Given the description of an element on the screen output the (x, y) to click on. 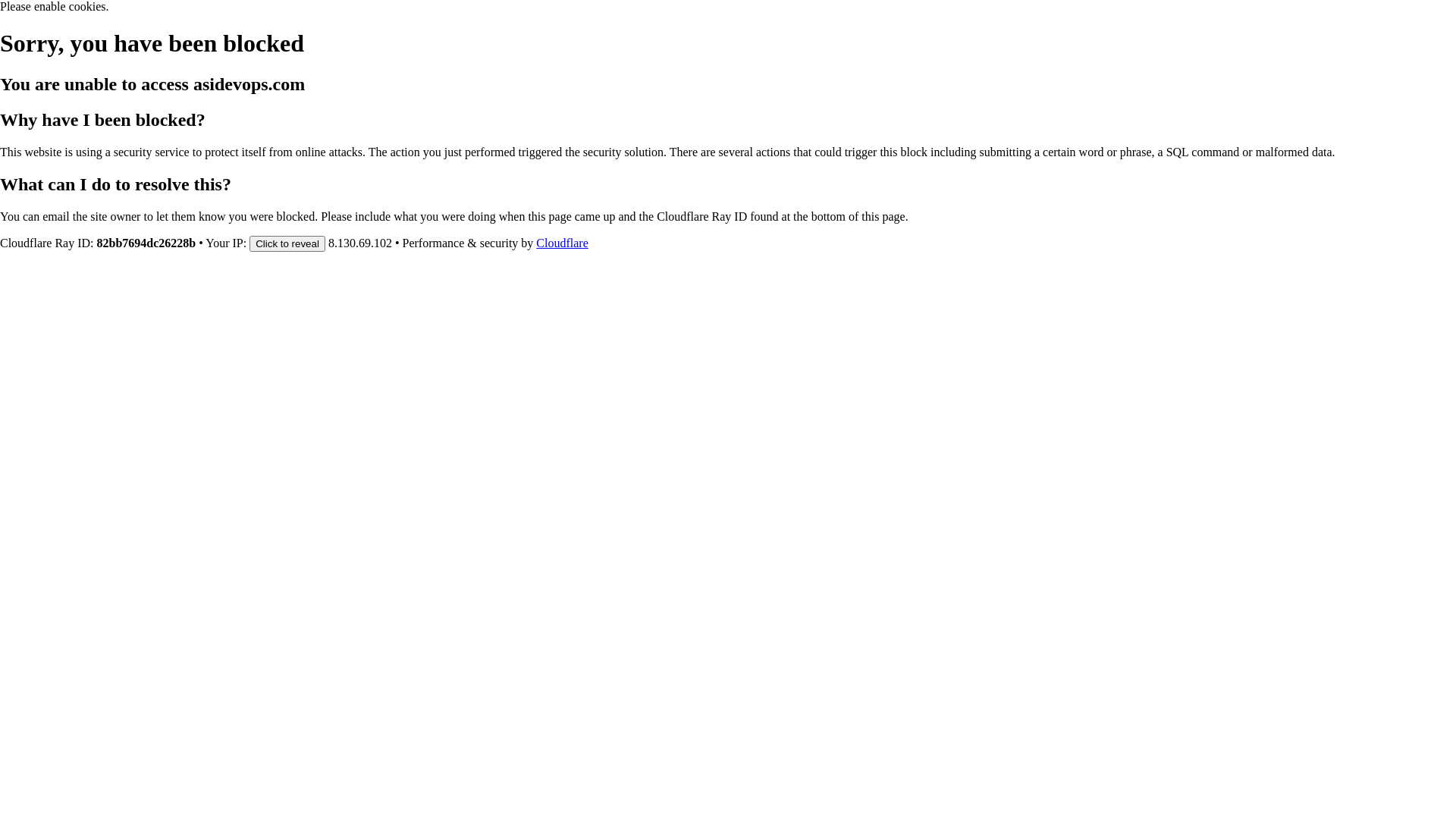
Click to reveal Element type: text (287, 243)
Cloudflare Element type: text (561, 242)
